Given the description of an element on the screen output the (x, y) to click on. 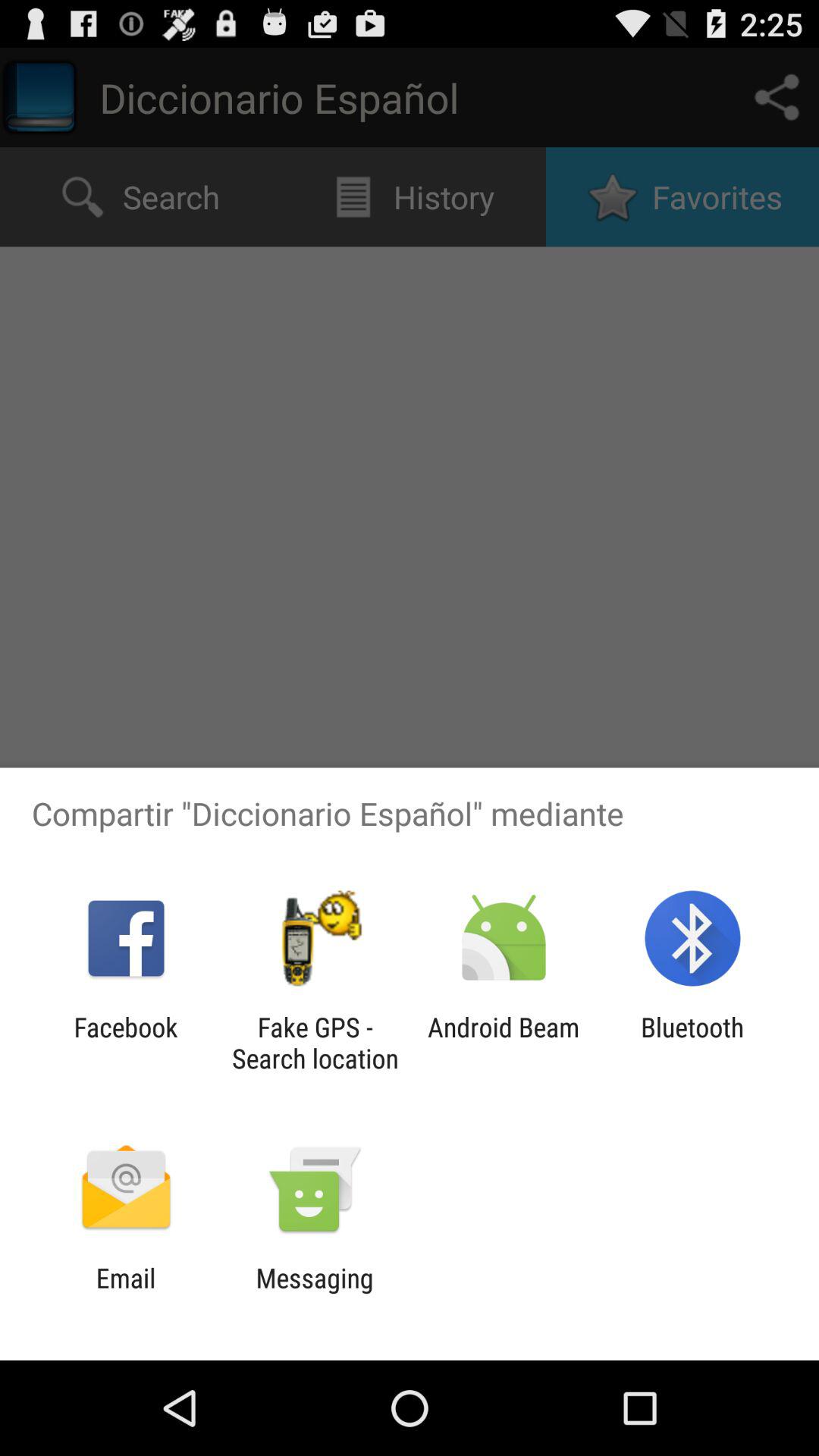
click the email app (125, 1293)
